Given the description of an element on the screen output the (x, y) to click on. 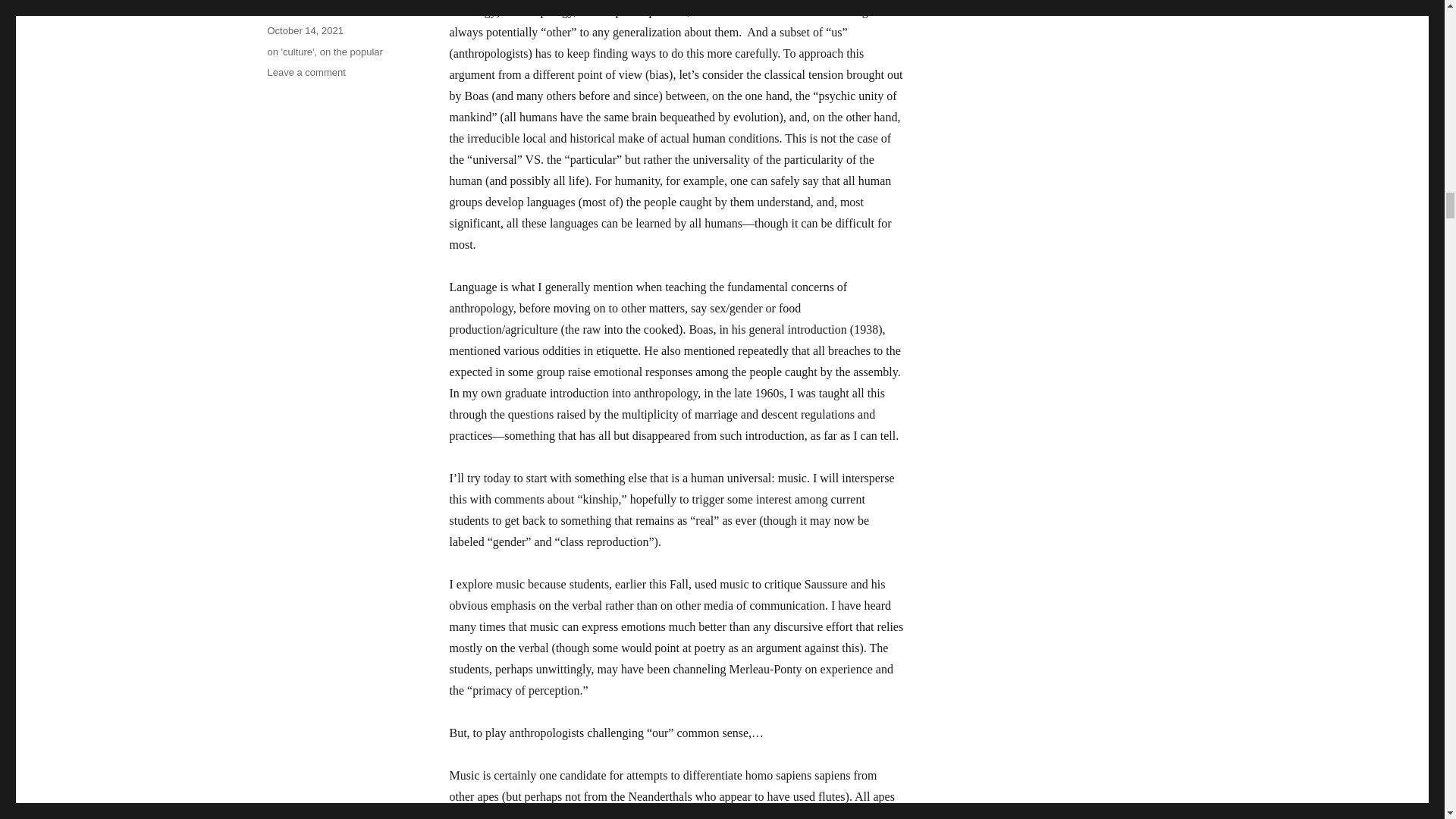
Herve Varenne (298, 9)
October 14, 2021 (304, 30)
on the popular (351, 50)
on 'culture' (290, 50)
